Given the description of an element on the screen output the (x, y) to click on. 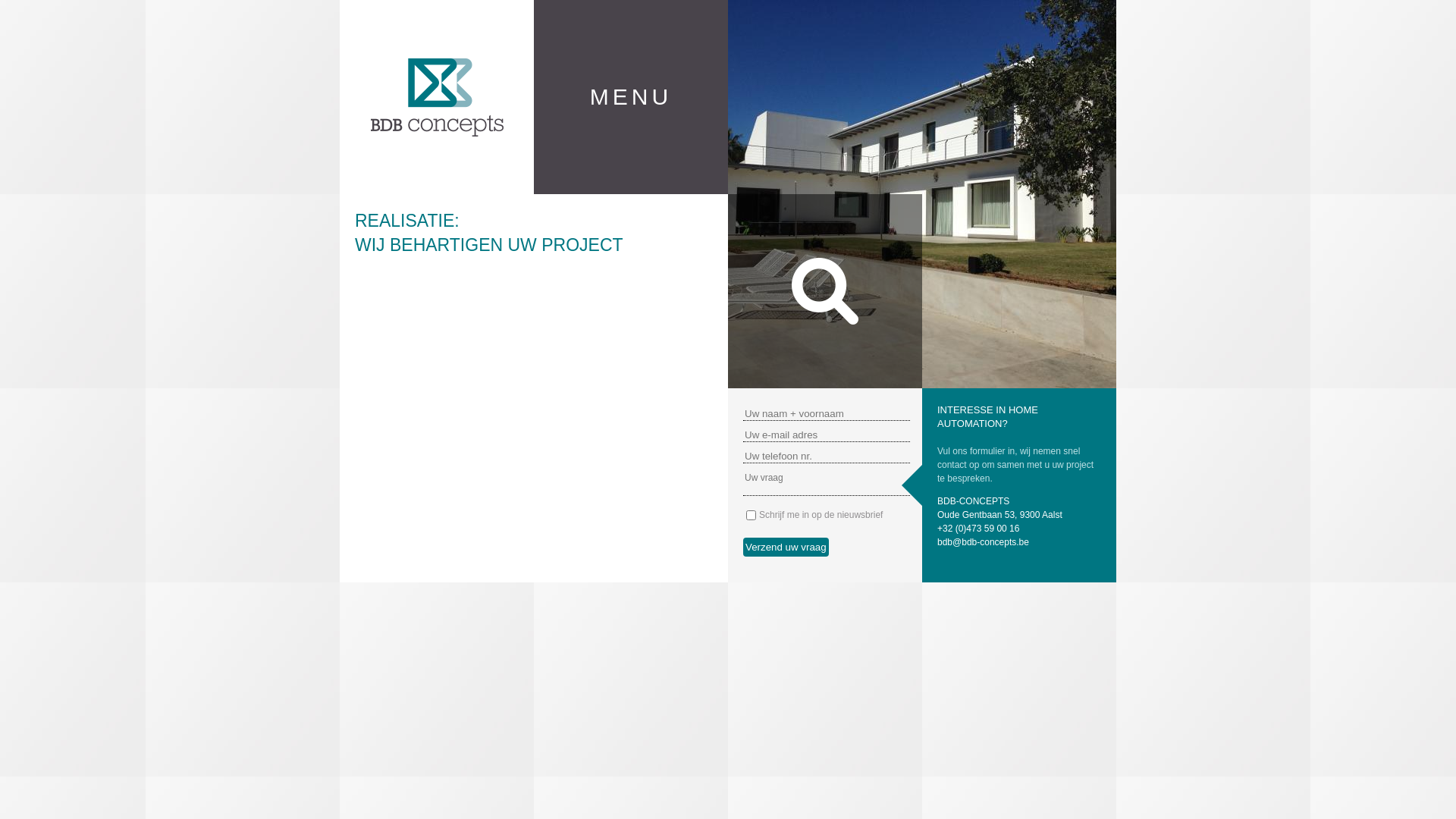
MENU Element type: text (630, 96)
bdb@bdb-concepts.be Element type: text (983, 541)
Verzend uw vraag Element type: text (785, 546)
